Given the description of an element on the screen output the (x, y) to click on. 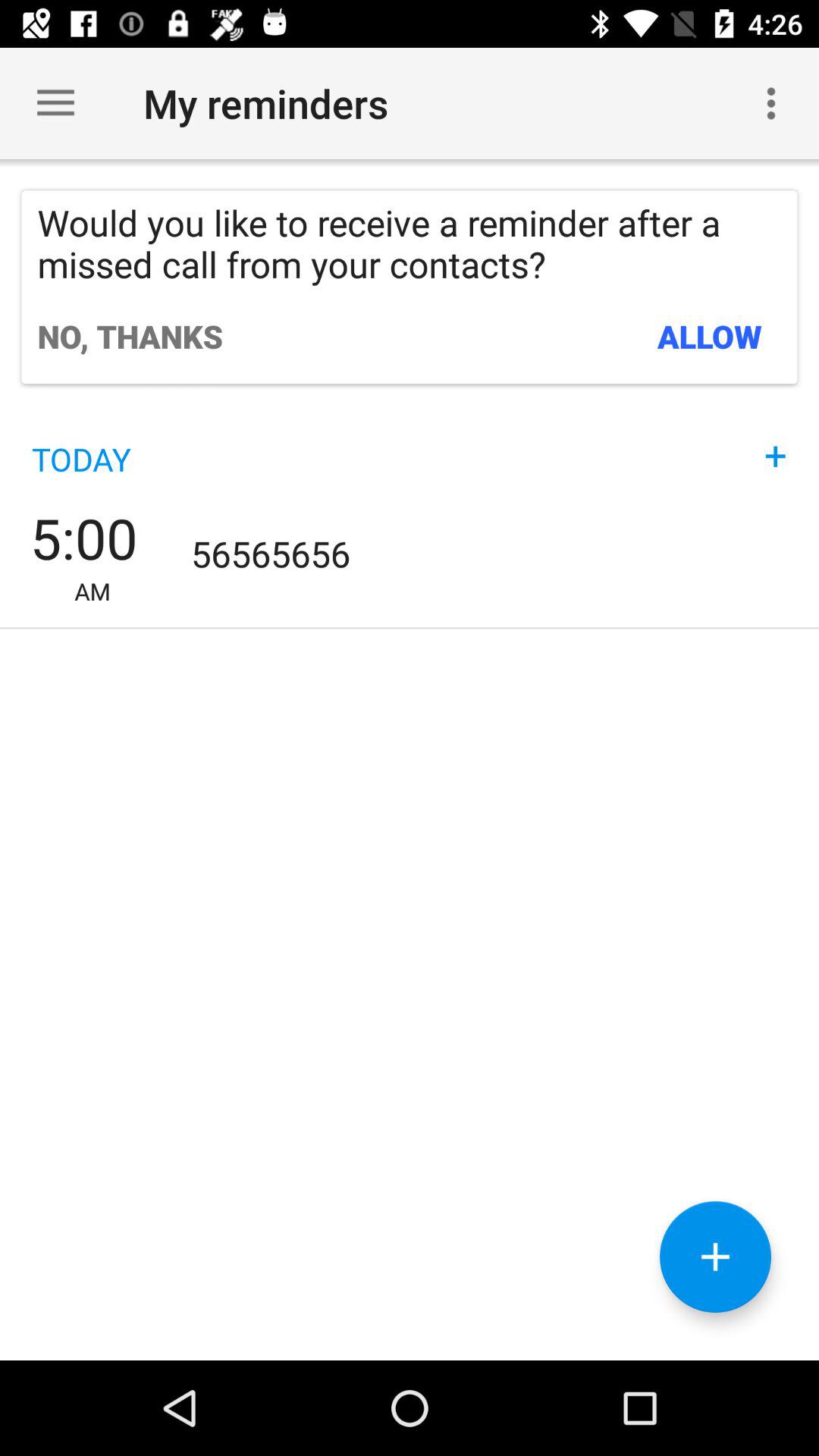
launch icon next to the today (775, 440)
